Given the description of an element on the screen output the (x, y) to click on. 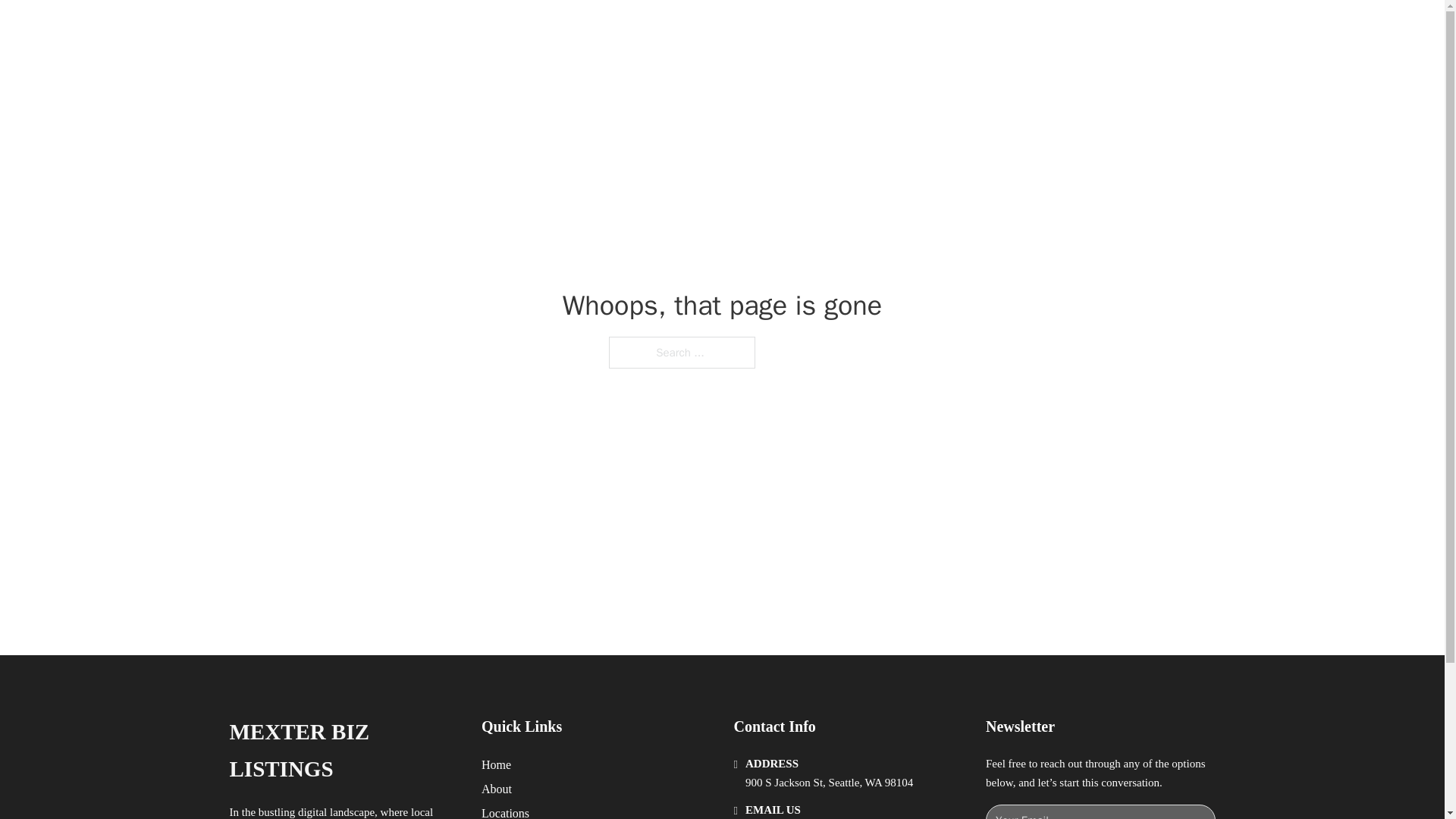
About (496, 788)
LOCATIONS (990, 29)
MEXTER BIZ LISTINGS (419, 28)
Home (496, 764)
MEXTER BIZ LISTINGS (343, 750)
Locations (505, 811)
HOME (919, 29)
